Given the description of an element on the screen output the (x, y) to click on. 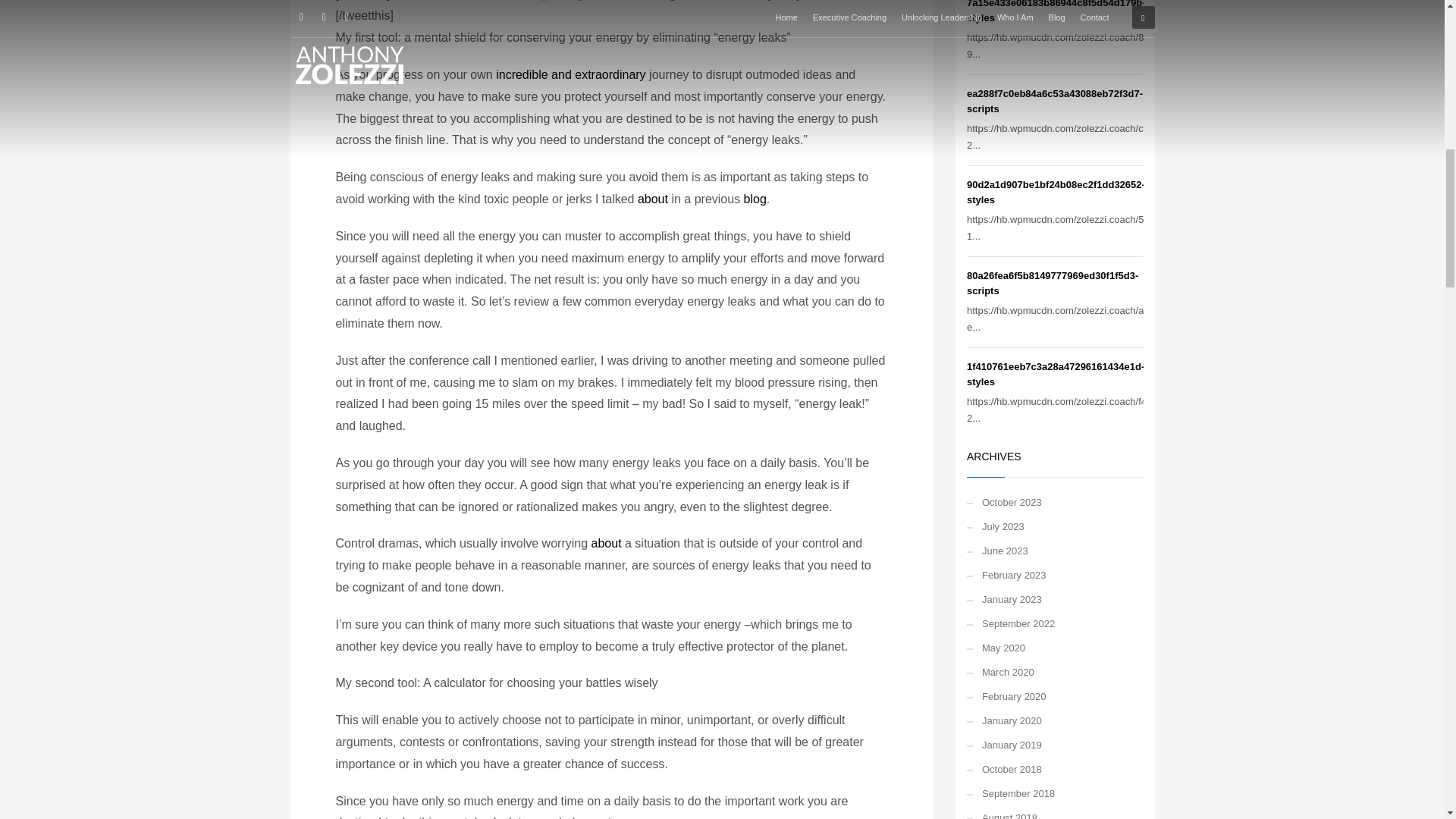
incredible and extraordinary (570, 74)
about (606, 543)
blog (755, 198)
about (652, 198)
